Given the description of an element on the screen output the (x, y) to click on. 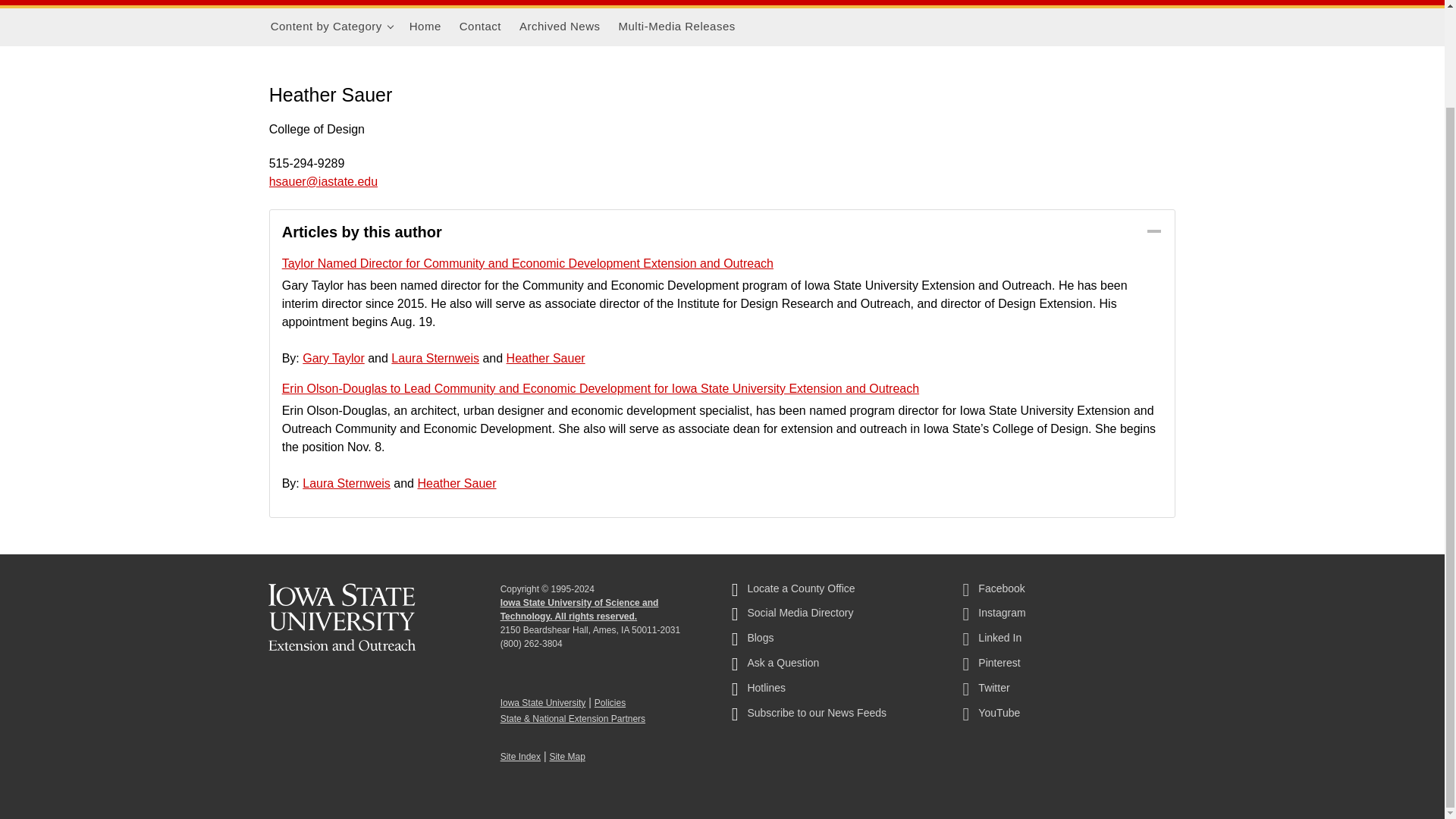
Heather Sauer (545, 358)
Contact (480, 26)
Gary Taylor (333, 358)
Iowa State University (543, 702)
Home (424, 26)
Archived News (560, 26)
Laura Sternweis (435, 358)
Multi-Media Releases (677, 26)
Heather Sauer (456, 482)
Laura Sternweis (346, 482)
